Given the description of an element on the screen output the (x, y) to click on. 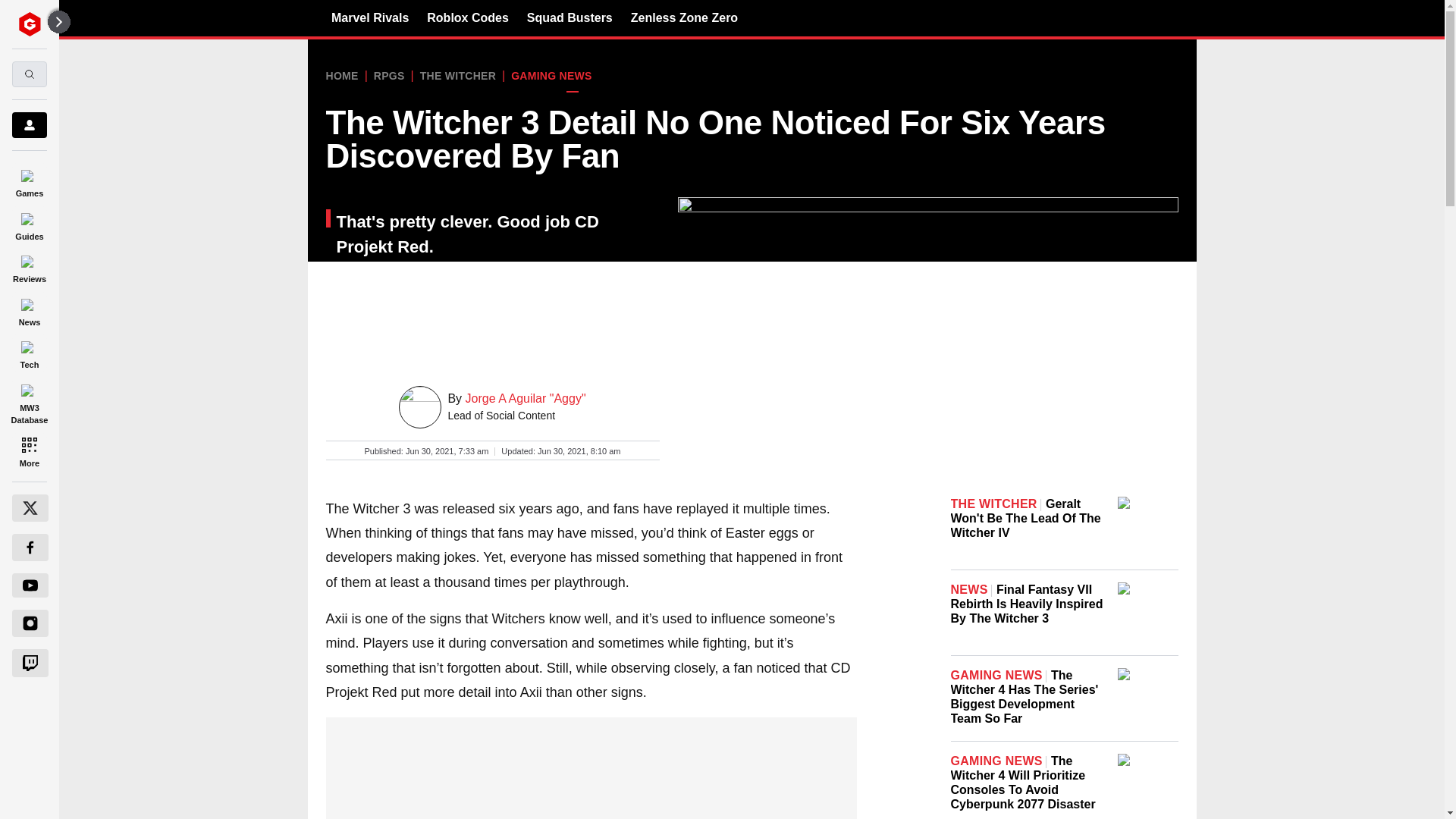
Reviews (28, 266)
Guides (28, 224)
Games (28, 180)
Tech (28, 352)
More (28, 450)
News (28, 309)
Zenless Zone Zero (684, 18)
Squad Busters (569, 18)
Roblox Codes (467, 18)
Marvel Rivals (370, 18)
